Given the description of an element on the screen output the (x, y) to click on. 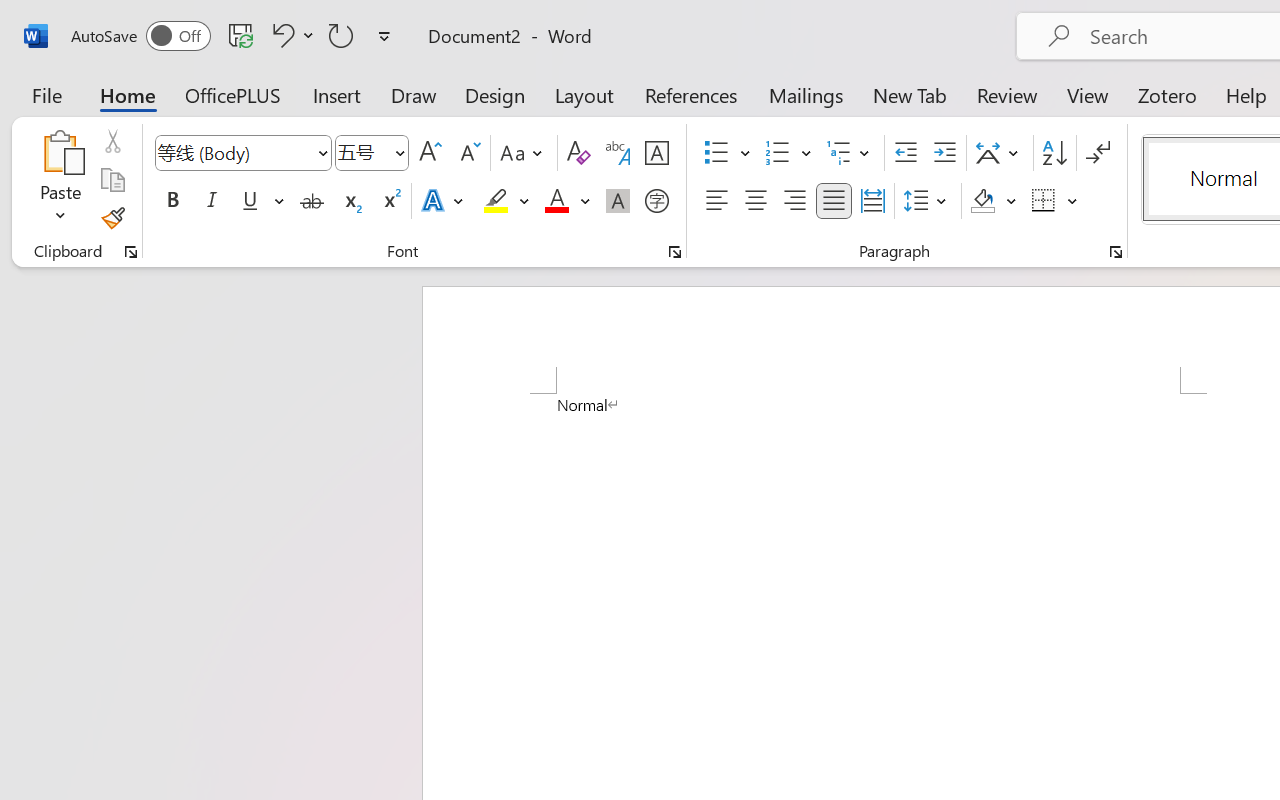
File Tab (46, 94)
Numbering (788, 153)
Bold (172, 201)
Format Painter (112, 218)
Underline (250, 201)
Show/Hide Editing Marks (1098, 153)
Text Effects and Typography (444, 201)
Font (242, 153)
Layout (584, 94)
Review (1007, 94)
Font Size (362, 152)
Change Case (524, 153)
Shading RGB(0, 0, 0) (982, 201)
Borders (1044, 201)
View (1087, 94)
